Given the description of an element on the screen output the (x, y) to click on. 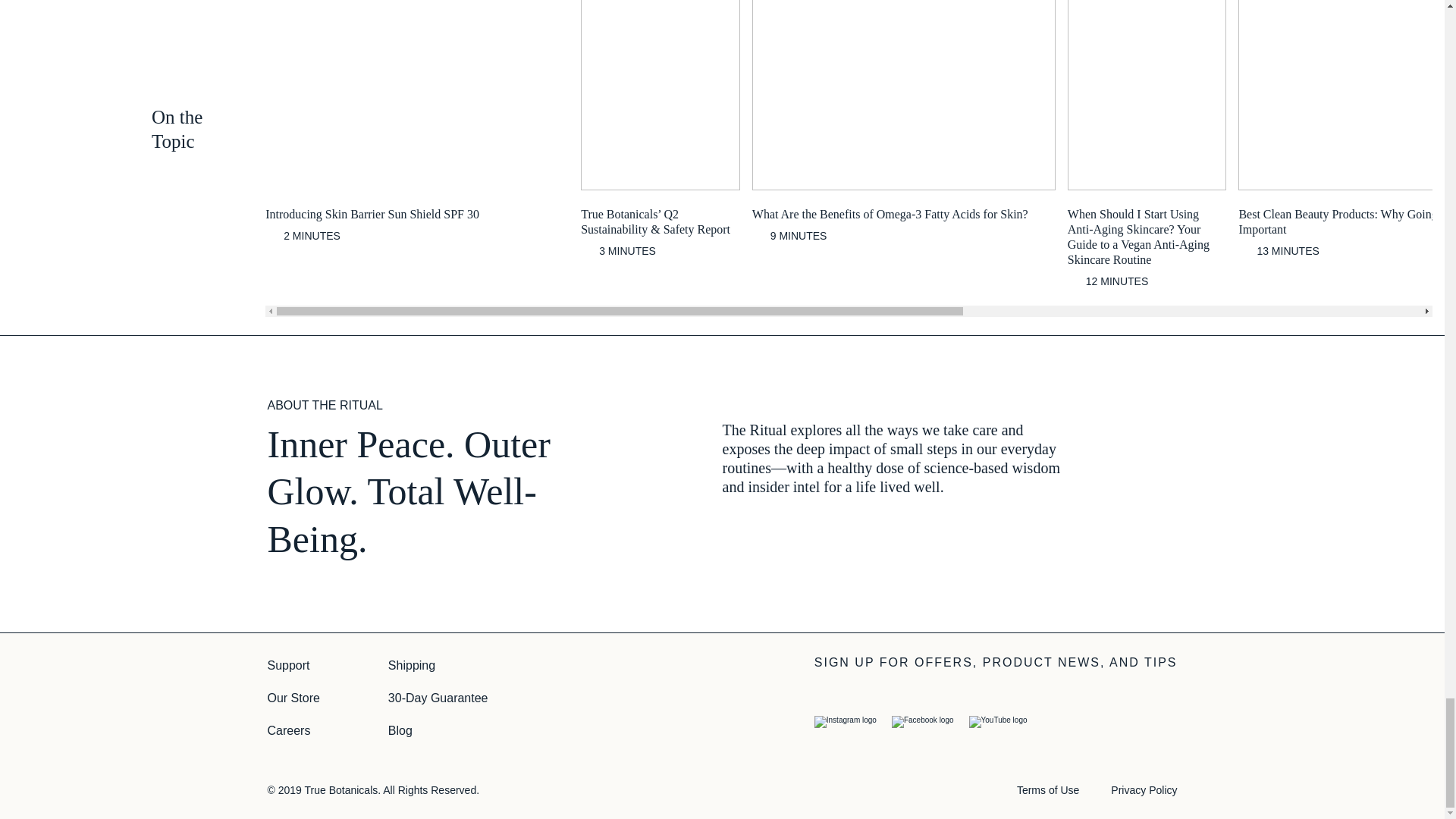
read time: 13 minutes (1279, 251)
read time: 3 minutes (618, 251)
read time: 12 minutes (1107, 281)
read time: 2 minutes (302, 236)
Get Support (287, 666)
Our store (292, 698)
read time: 9 minutes (789, 236)
